Given the description of an element on the screen output the (x, y) to click on. 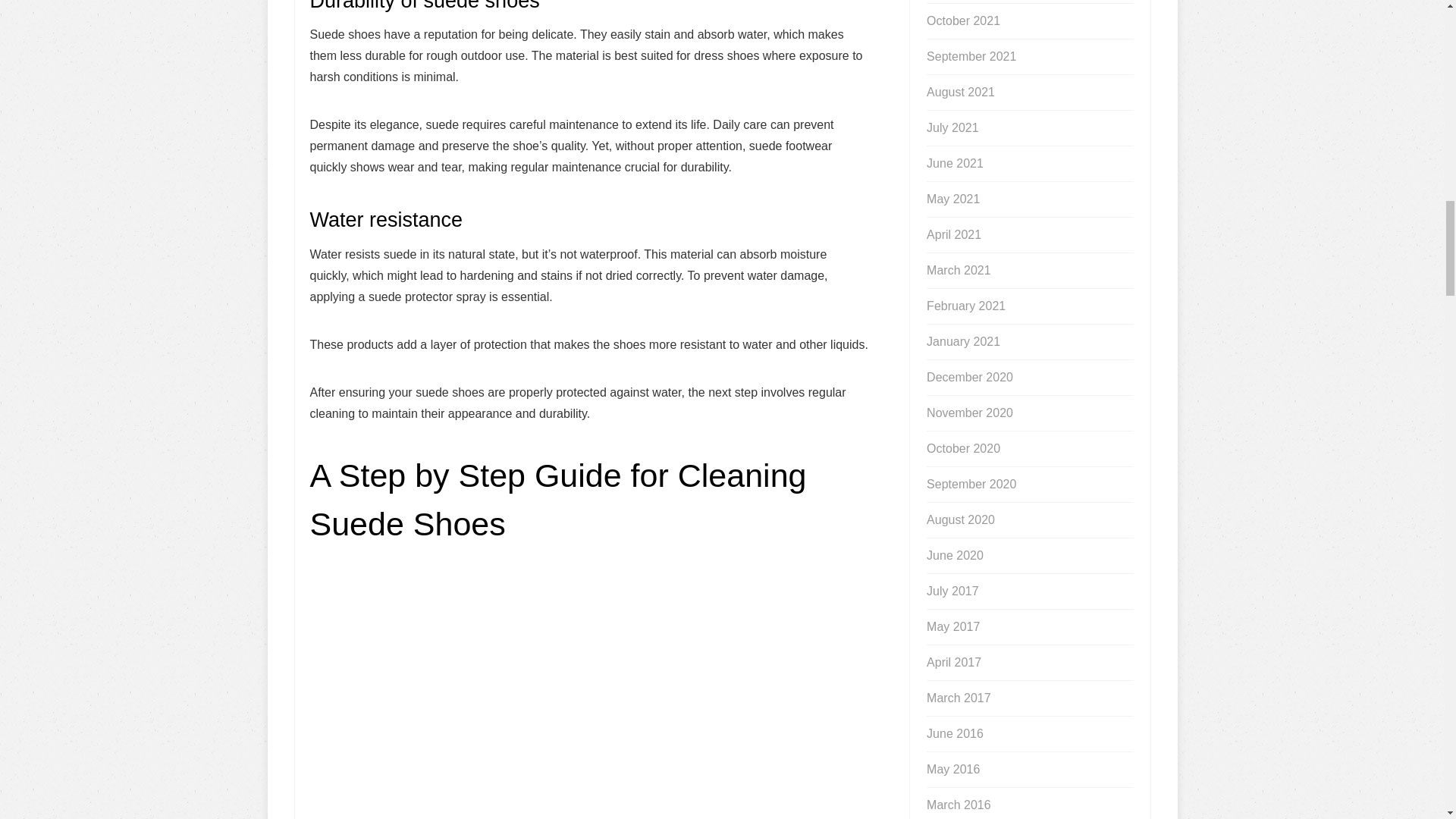
November 2021 (969, 1)
October 2021 (963, 21)
September 2021 (971, 56)
